Given the description of an element on the screen output the (x, y) to click on. 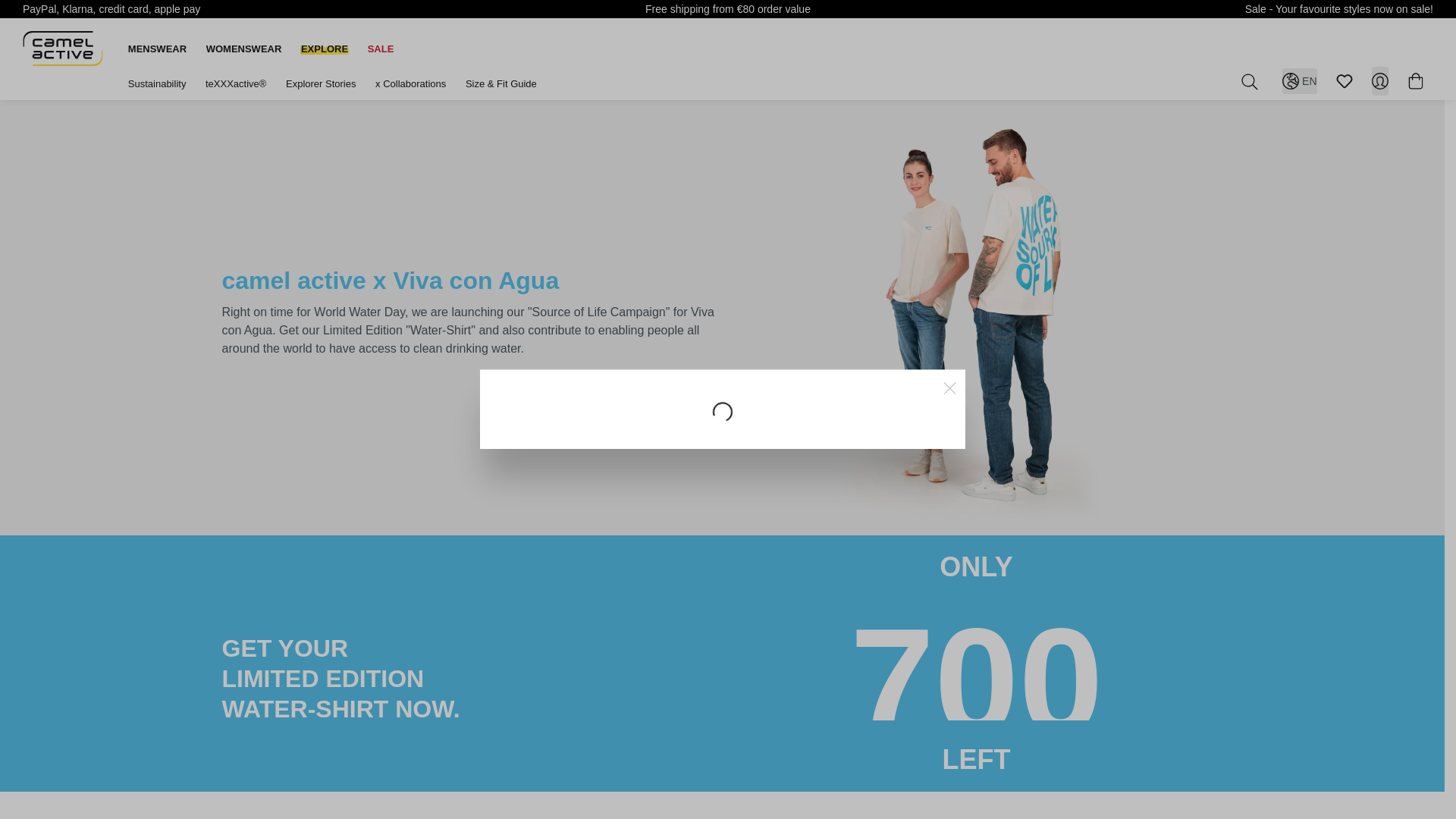
x Collaborations (410, 83)
Sustainability (156, 83)
EN (1299, 80)
EXPLORE (324, 48)
Explorer Stories (320, 83)
MENSWEAR (156, 48)
Go to homepage (63, 48)
Sustainability (156, 83)
Explore (324, 48)
Sale (380, 48)
SALE (380, 48)
Explorer Stories (320, 83)
WOMENSWEAR (243, 48)
Menswear (156, 48)
Womenswear (243, 48)
